Given the description of an element on the screen output the (x, y) to click on. 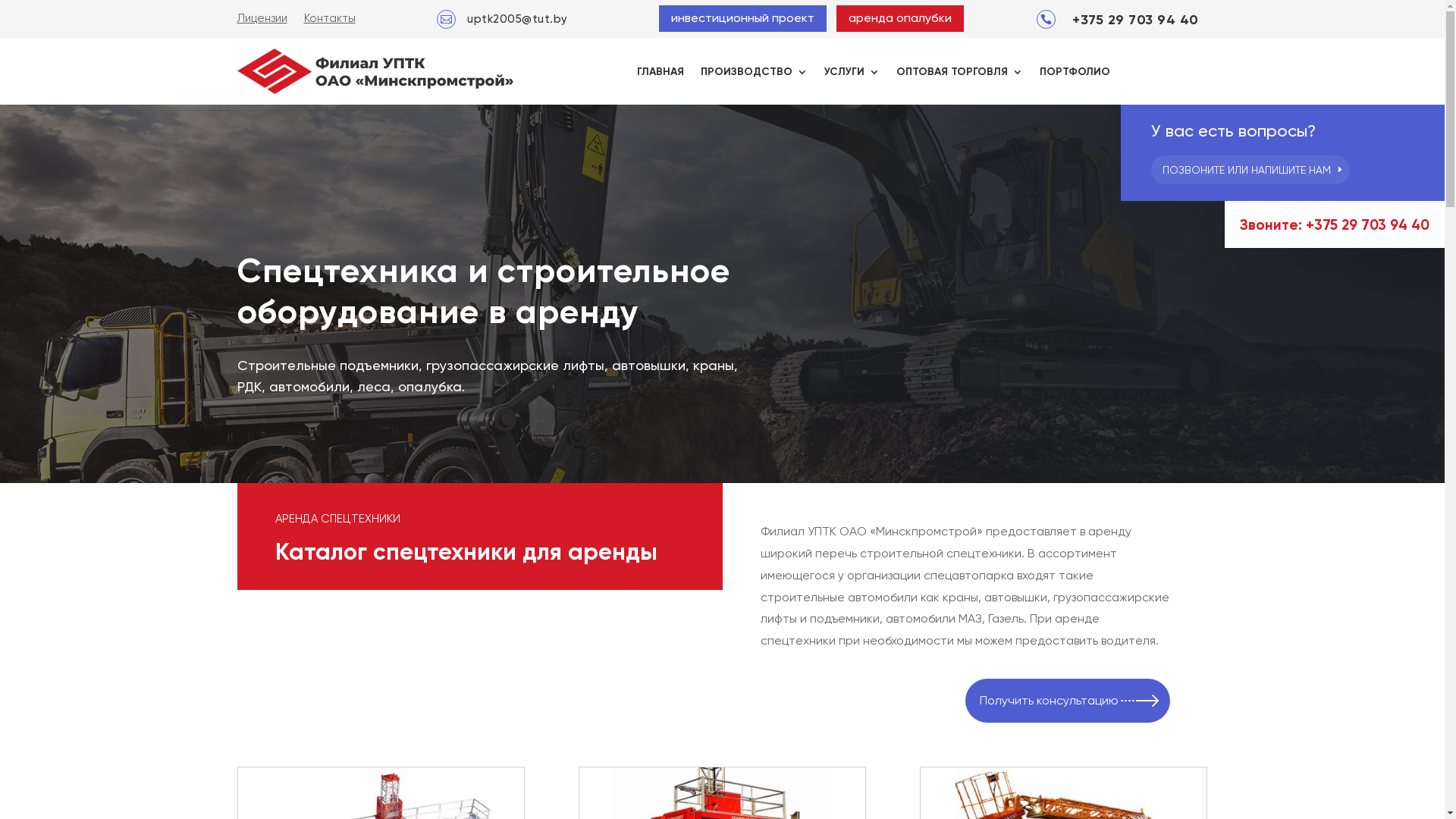
uptk2005@tut.by Element type: text (517, 18)
+375 29 703 94 40 Element type: text (1135, 19)
logotype Element type: hover (374, 71)
